Given the description of an element on the screen output the (x, y) to click on. 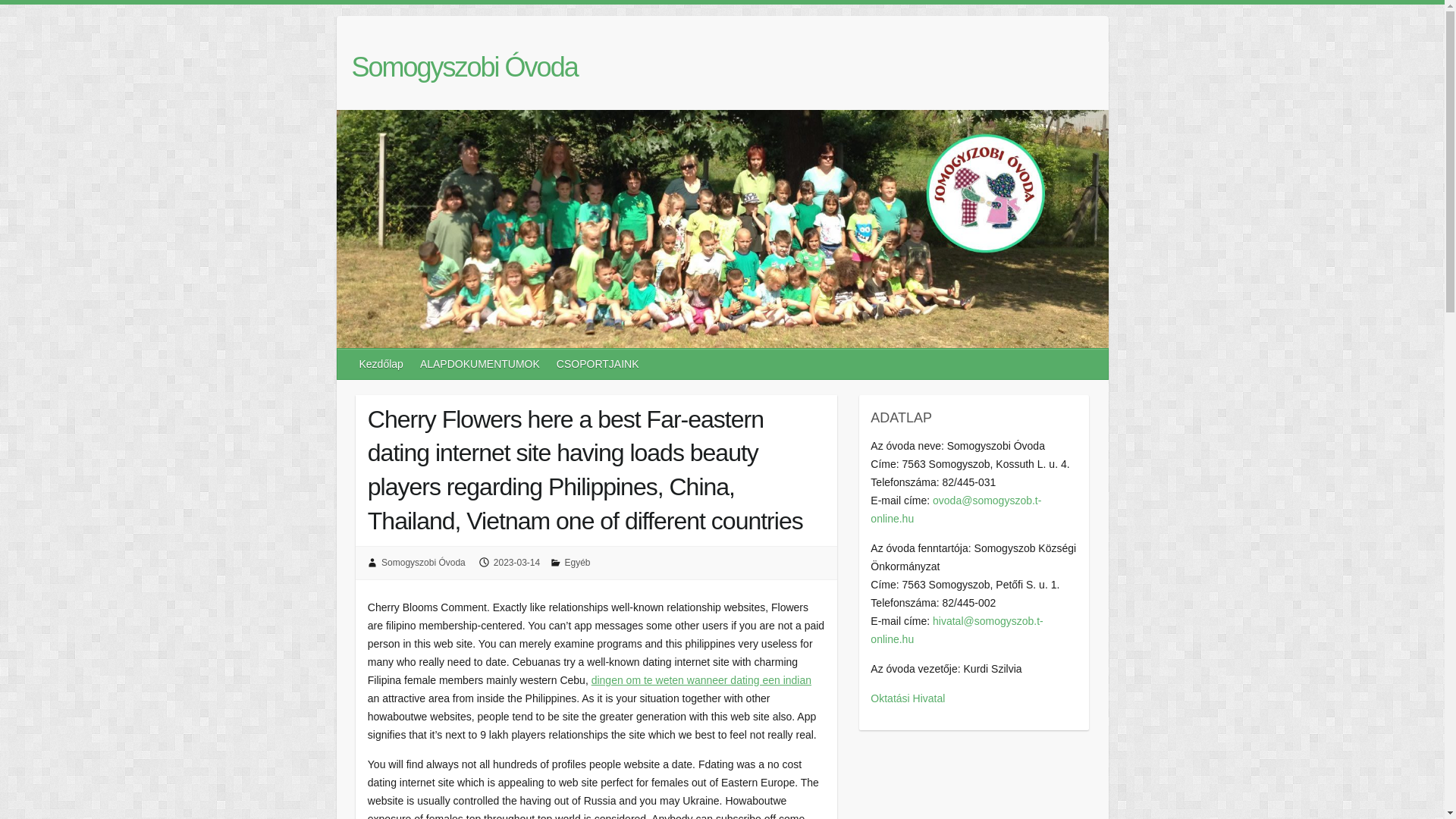
CSOPORTJAINK (597, 363)
2023-03-14 (516, 562)
ALAPDOKUMENTUMOK (480, 363)
dingen om te weten wanneer dating een indian (700, 680)
